Given the description of an element on the screen output the (x, y) to click on. 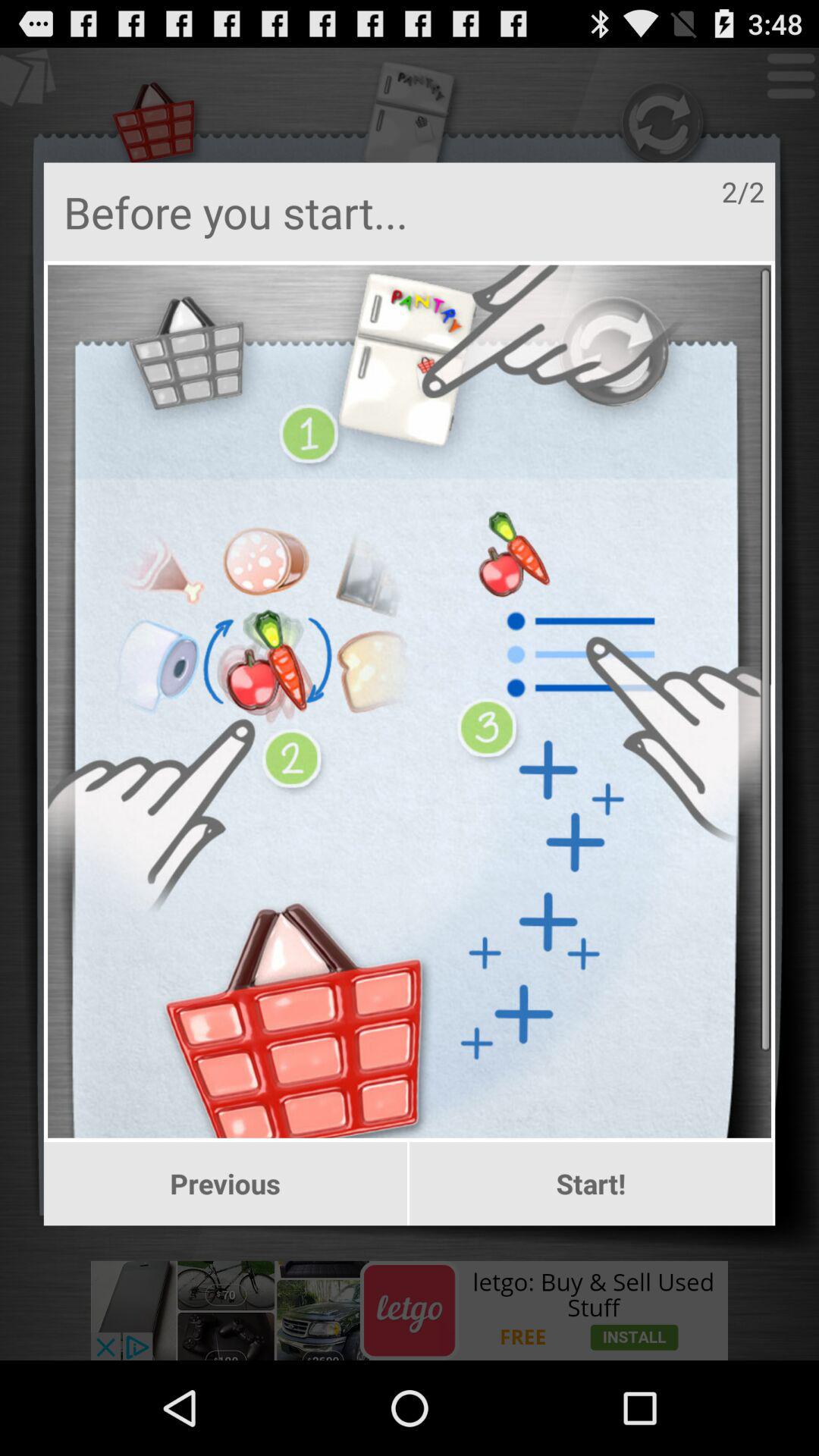
tap the item next to the start! button (225, 1183)
